Given the description of an element on the screen output the (x, y) to click on. 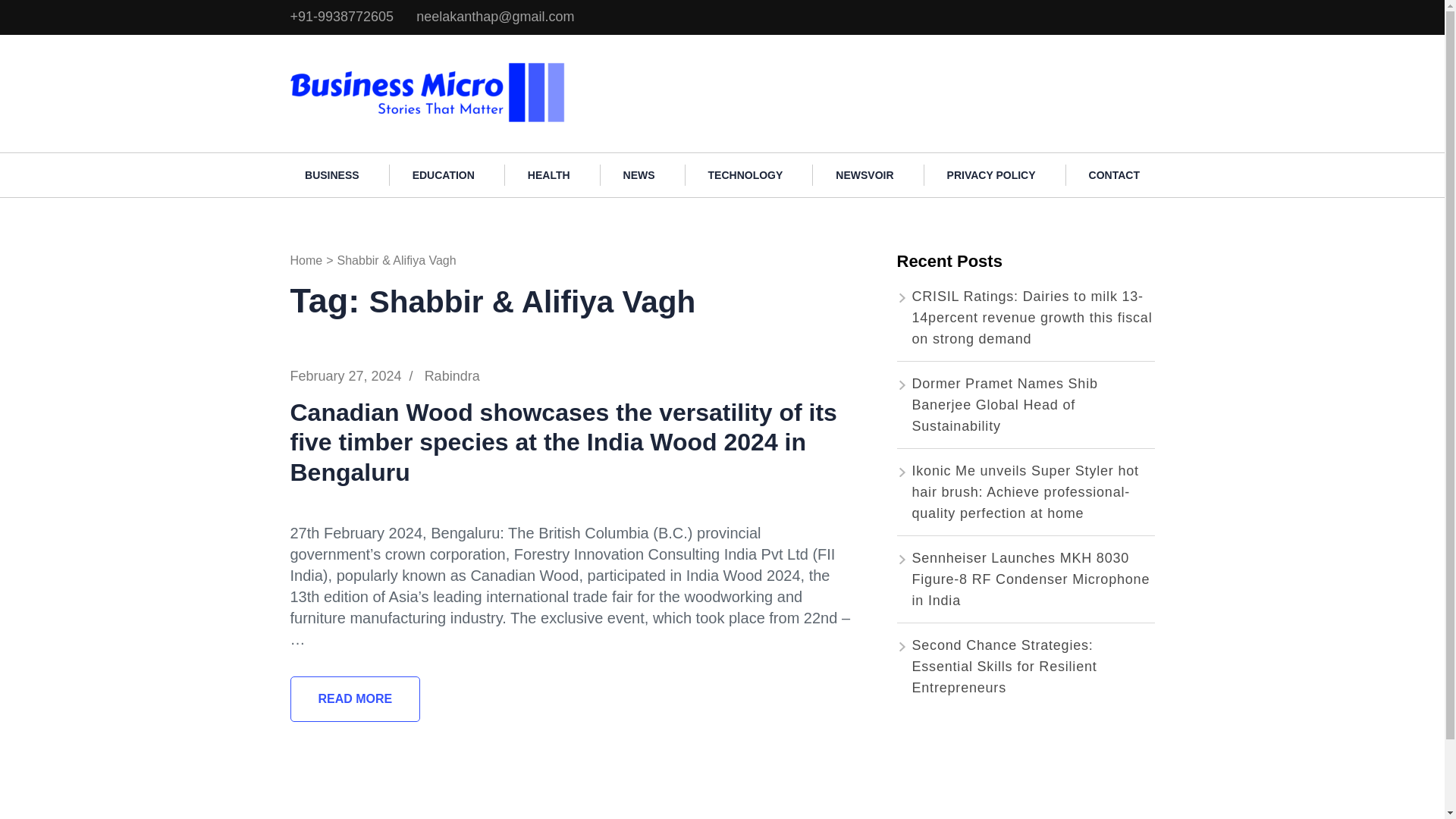
EDUCATION (444, 174)
Business Micro (628, 68)
BUSINESS (331, 174)
CONTACT (1113, 174)
Rabindra (452, 376)
PRIVACY POLICY (991, 174)
NEWS (639, 174)
February 27, 2024 (345, 376)
Home (305, 259)
TECHNOLOGY (745, 174)
